Given the description of an element on the screen output the (x, y) to click on. 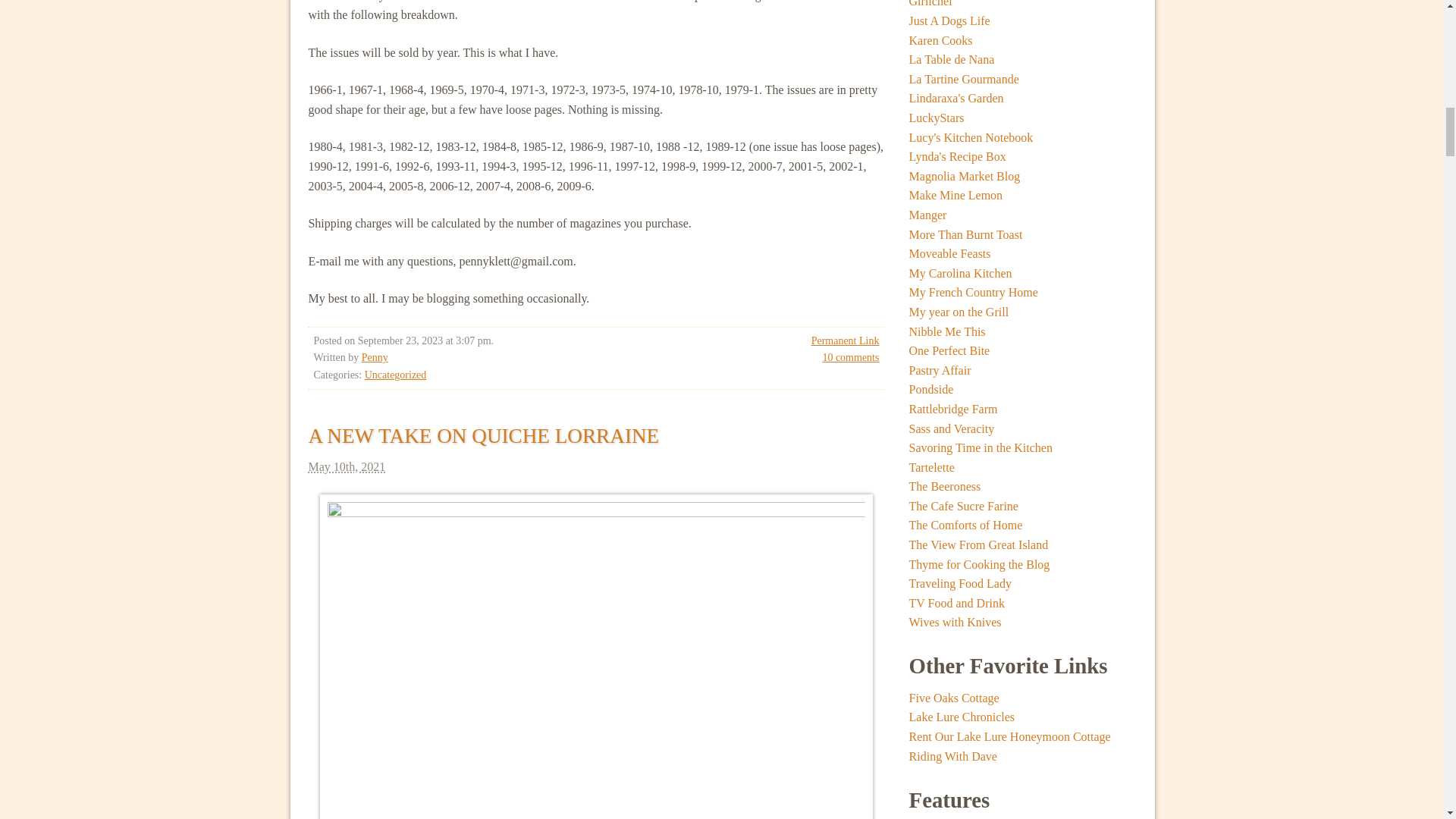
Permanent Link to A New Take on Quiche Lorraine (483, 436)
A NEW TAKE ON QUICHE LORRAINE (483, 436)
Permanent Link (844, 340)
Penny (374, 357)
Uncategorized (395, 374)
2021-05-10T10:22:40-04:00 (595, 466)
10 comments (850, 357)
